Given the description of an element on the screen output the (x, y) to click on. 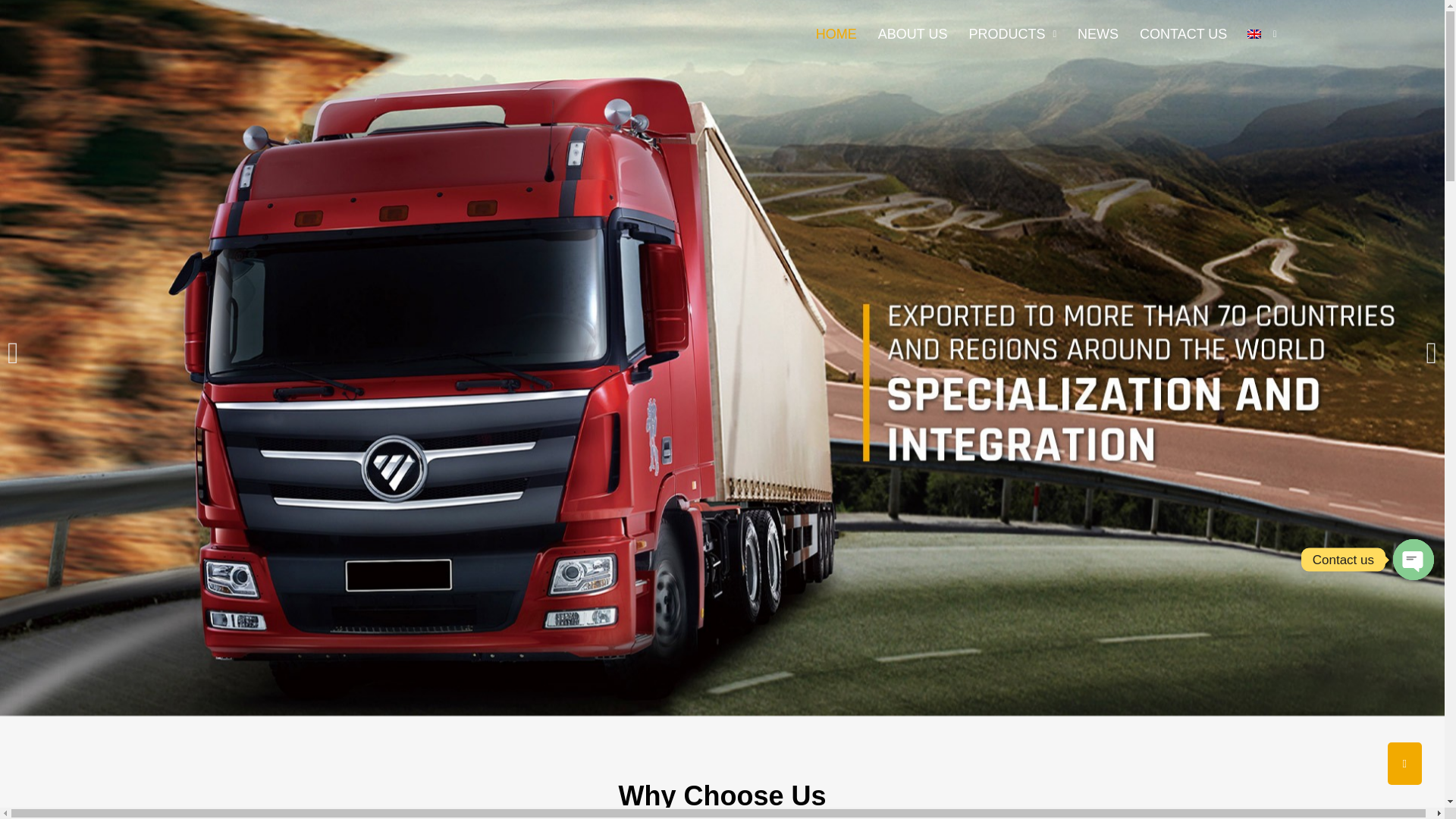
ABOUT US (912, 33)
PRODUCTS (1012, 33)
CONTACT US (1183, 33)
HOME (836, 33)
NEWS (1098, 33)
